Given the description of an element on the screen output the (x, y) to click on. 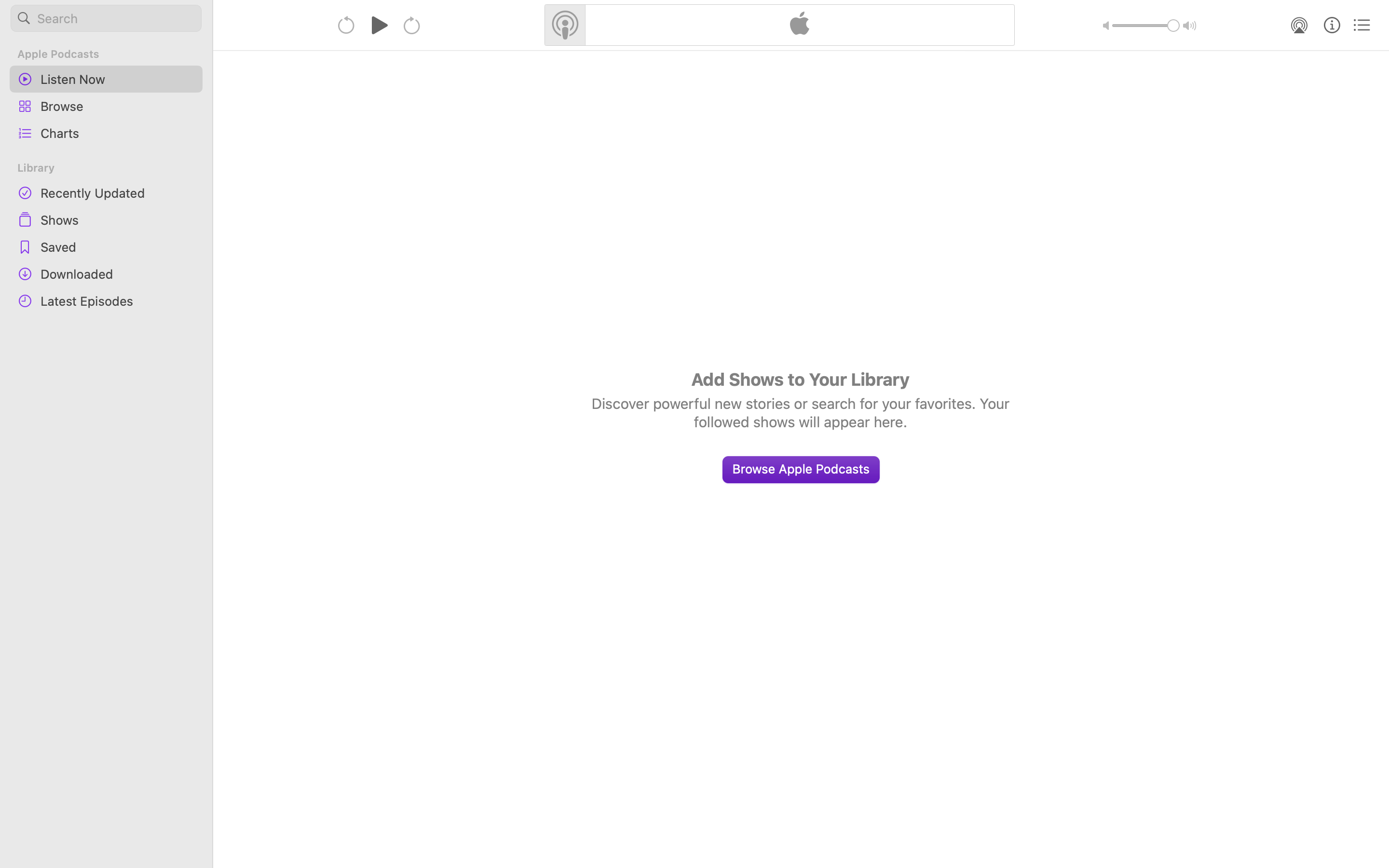
1.0 Element type: AXSlider (1145, 25)
